Given the description of an element on the screen output the (x, y) to click on. 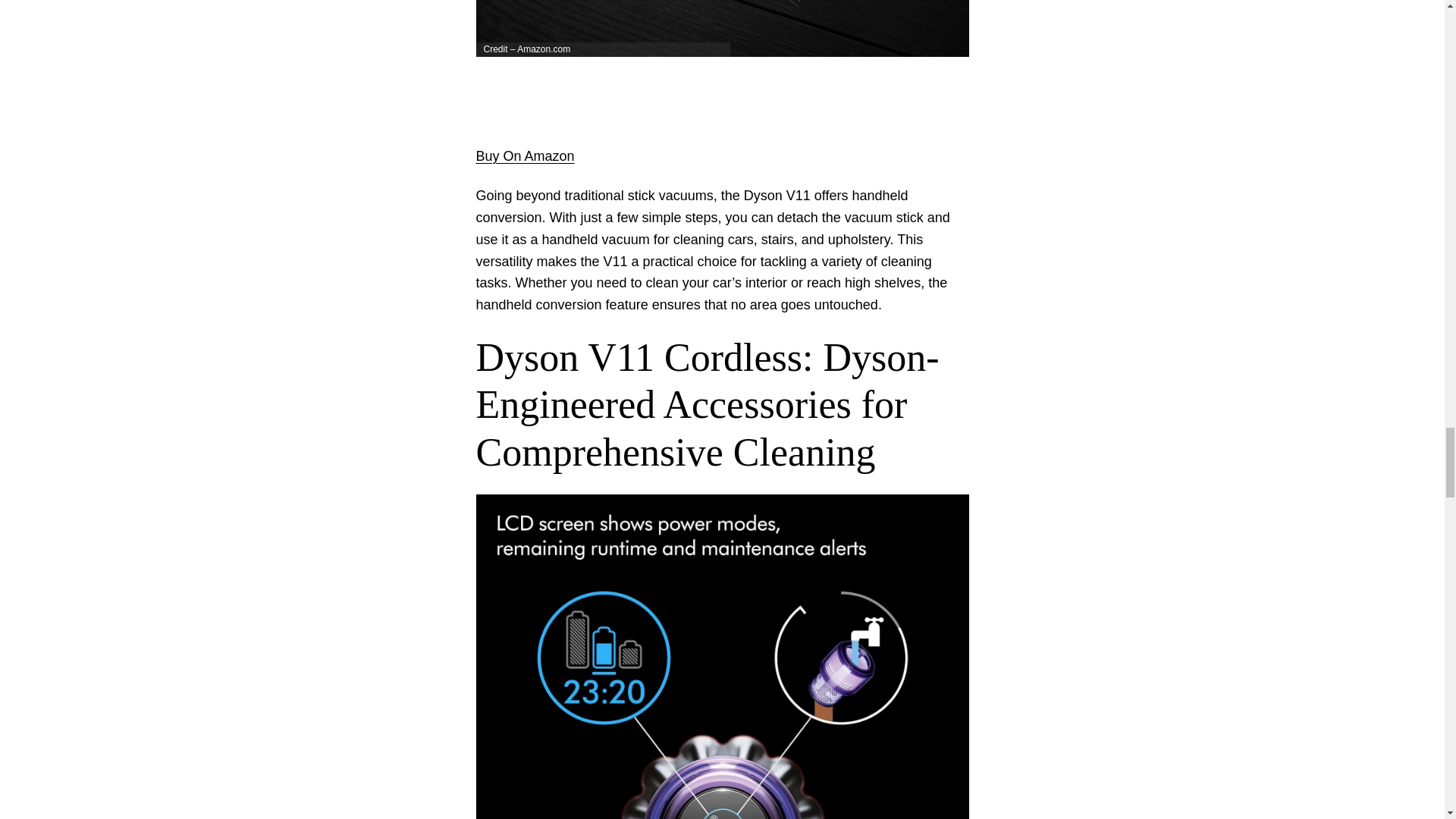
Buy On Amazon (525, 155)
